Given the description of an element on the screen output the (x, y) to click on. 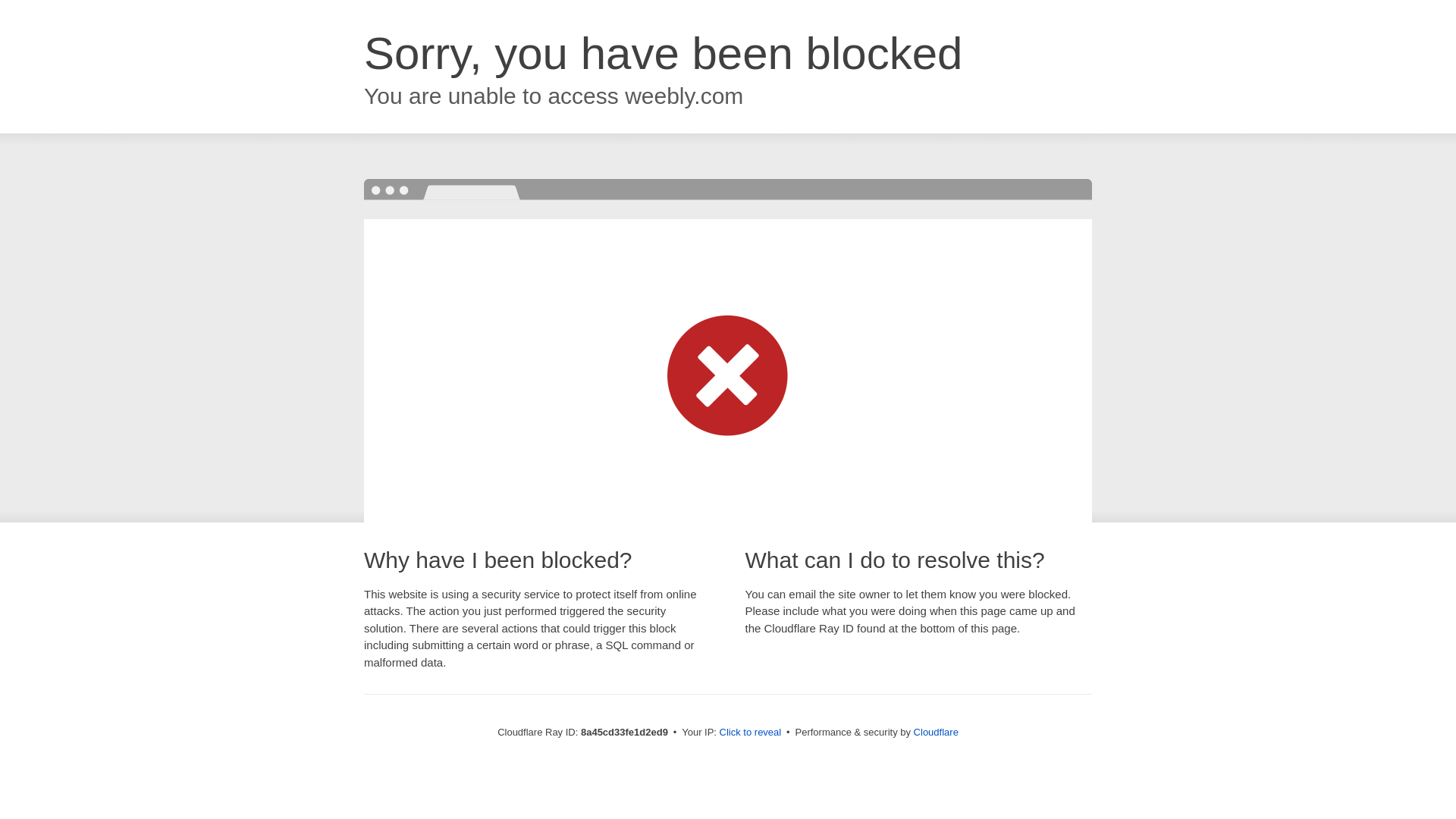
Click to reveal (750, 732)
Cloudflare (936, 731)
